Given the description of an element on the screen output the (x, y) to click on. 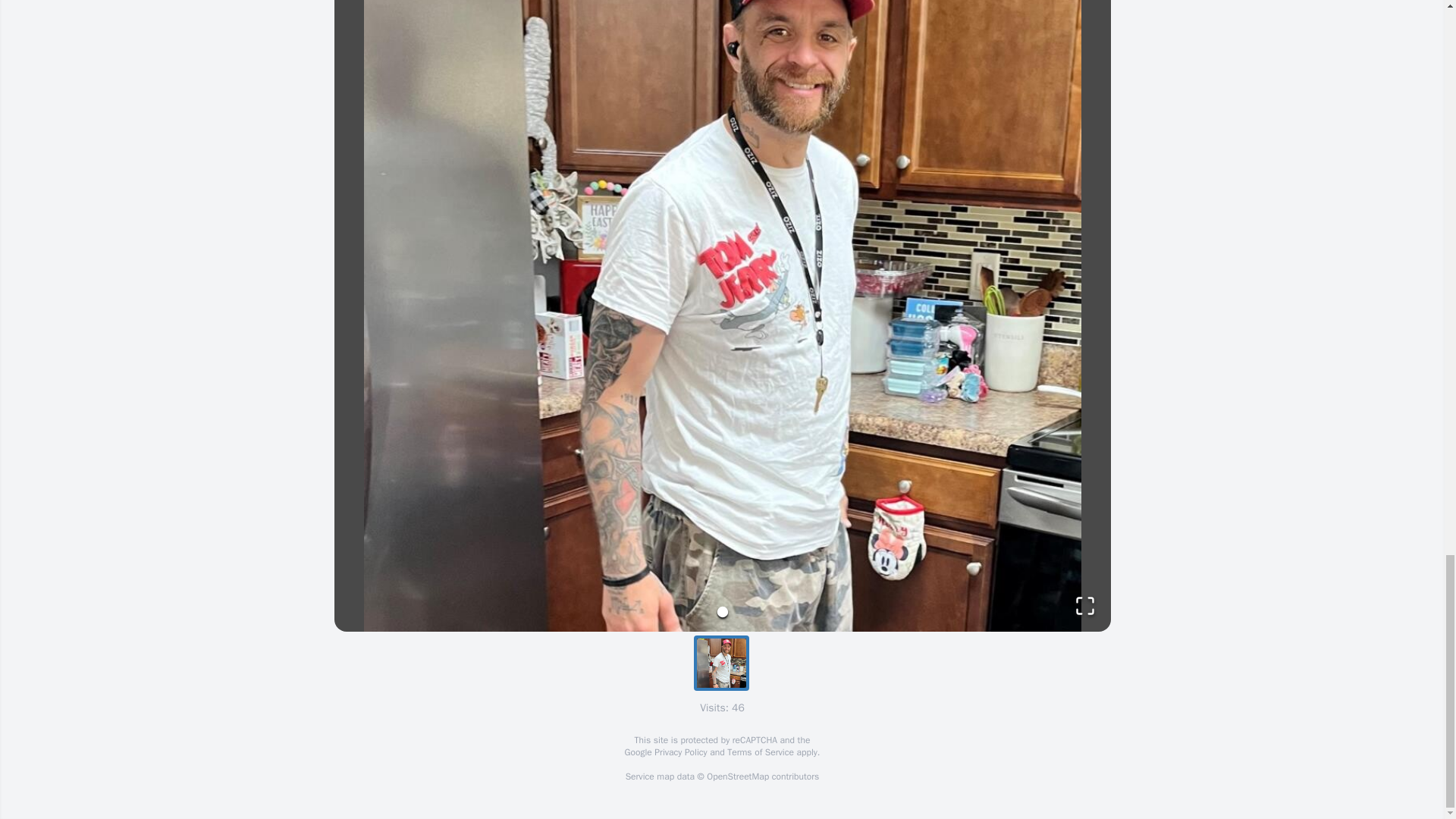
Privacy Policy (679, 752)
Terms of Service (759, 752)
OpenStreetMap (737, 776)
